Given the description of an element on the screen output the (x, y) to click on. 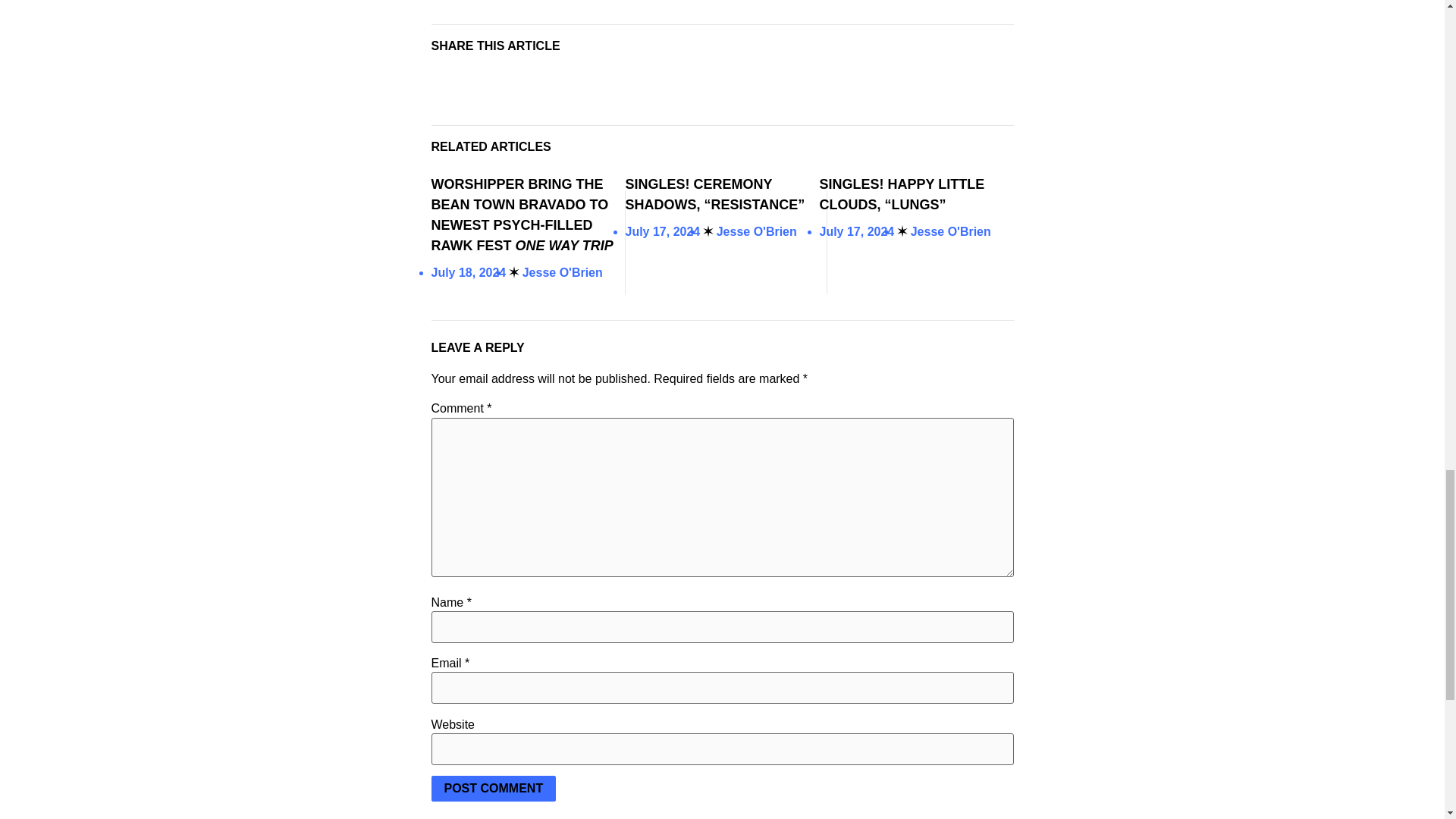
Post Comment (493, 788)
Post Comment (493, 788)
